Given the description of an element on the screen output the (x, y) to click on. 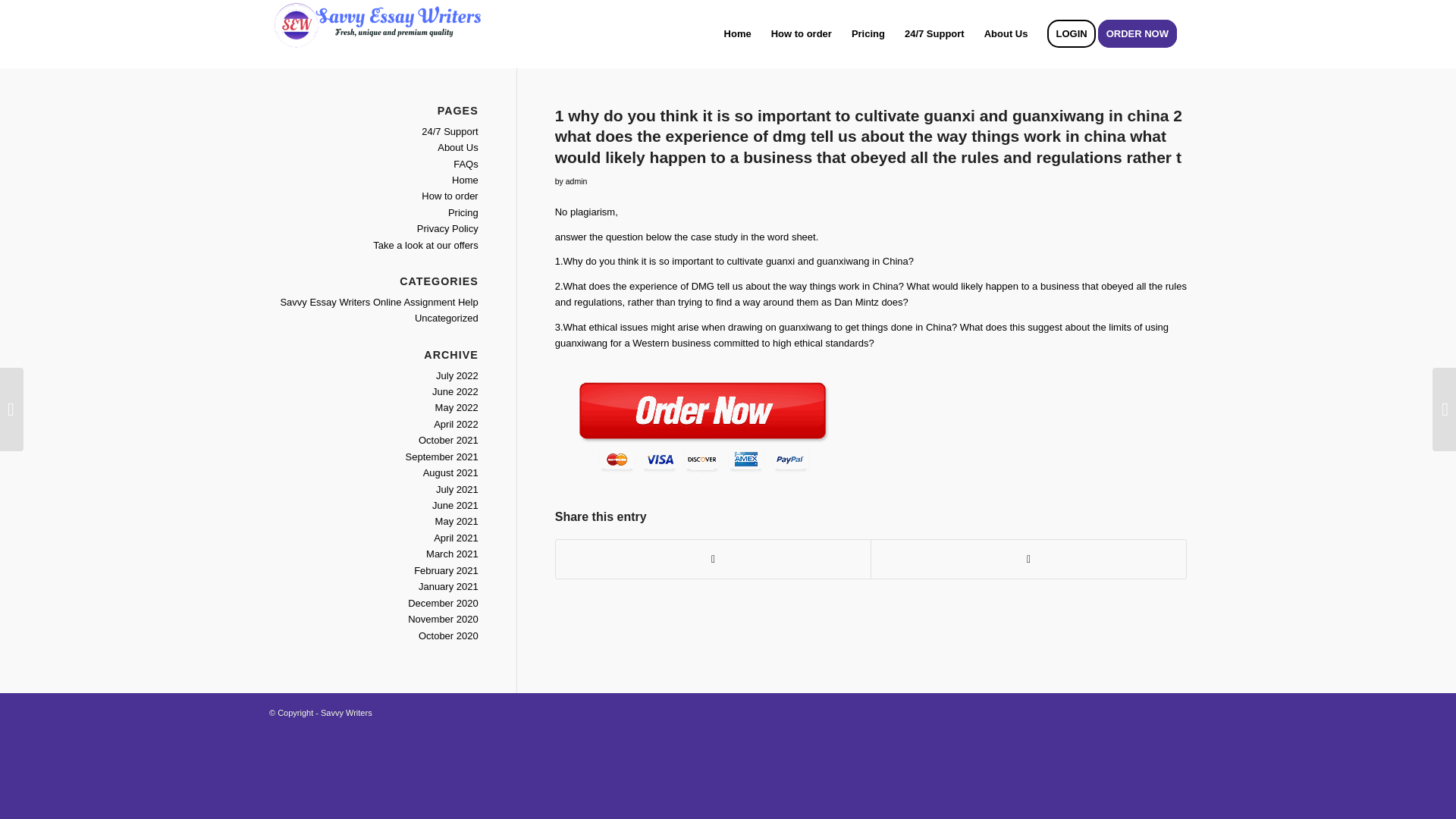
September 2021 (442, 456)
FAQs (465, 163)
How to order (449, 195)
About Us (457, 147)
July 2021 (457, 489)
August 2021 (451, 472)
Pricing (463, 212)
May 2022 (457, 407)
October 2021 (449, 439)
January 2021 (449, 586)
